Given the description of an element on the screen output the (x, y) to click on. 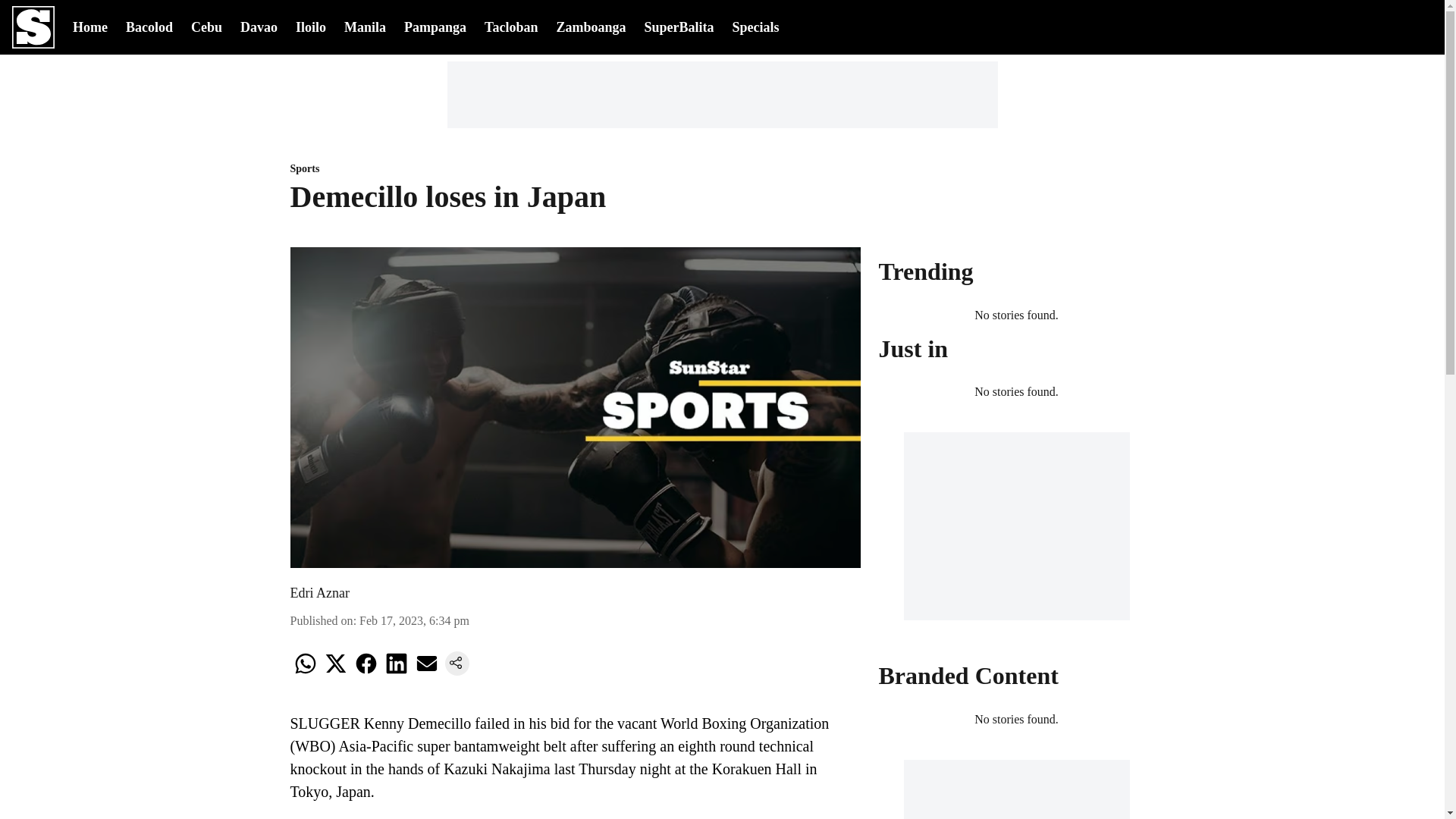
Edri Aznar (319, 592)
Cebu (206, 26)
Pampanga (434, 26)
Tacloban (510, 26)
Davao (259, 26)
Bacolod (149, 26)
Sports (574, 169)
Home (89, 26)
Iloilo (310, 26)
2023-02-17 18:34 (413, 620)
